Given the description of an element on the screen output the (x, y) to click on. 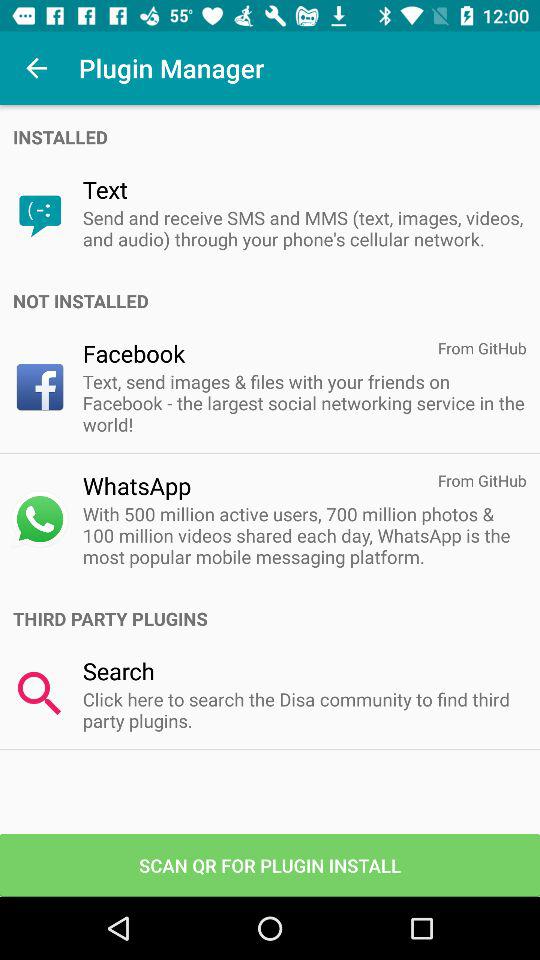
open app below the search icon (304, 709)
